Given the description of an element on the screen output the (x, y) to click on. 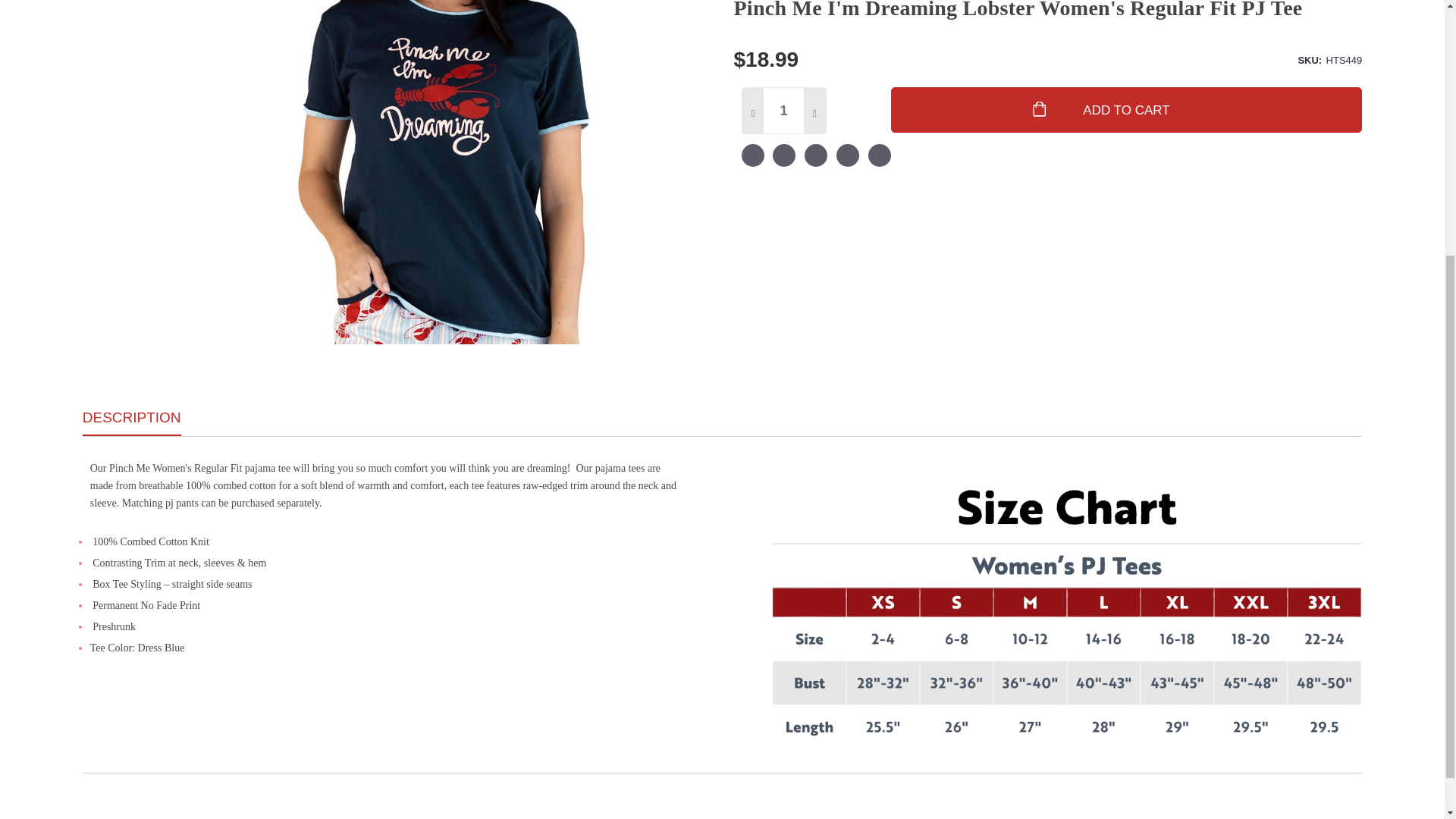
Pinterest (878, 157)
Facebook (752, 157)
Email (784, 157)
Twitter (848, 157)
Print (816, 157)
Add to Cart (1126, 109)
